Given the description of an element on the screen output the (x, y) to click on. 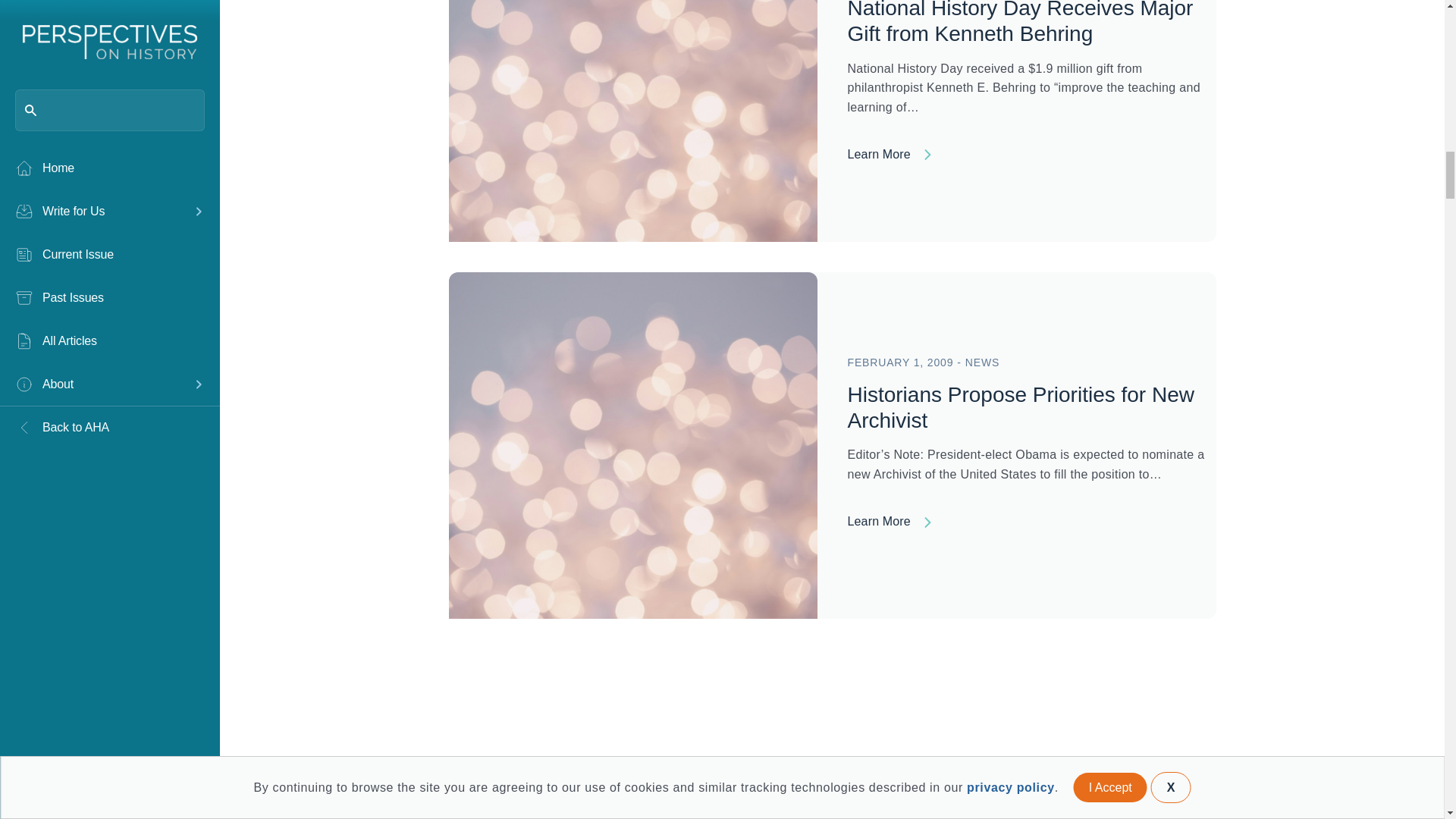
Historians Propose Priorities for New Archivist (1031, 525)
Historians Propose Priorities for New Archivist (632, 444)
Historians Propose Priorities for New Archivist (1021, 407)
